Given the description of an element on the screen output the (x, y) to click on. 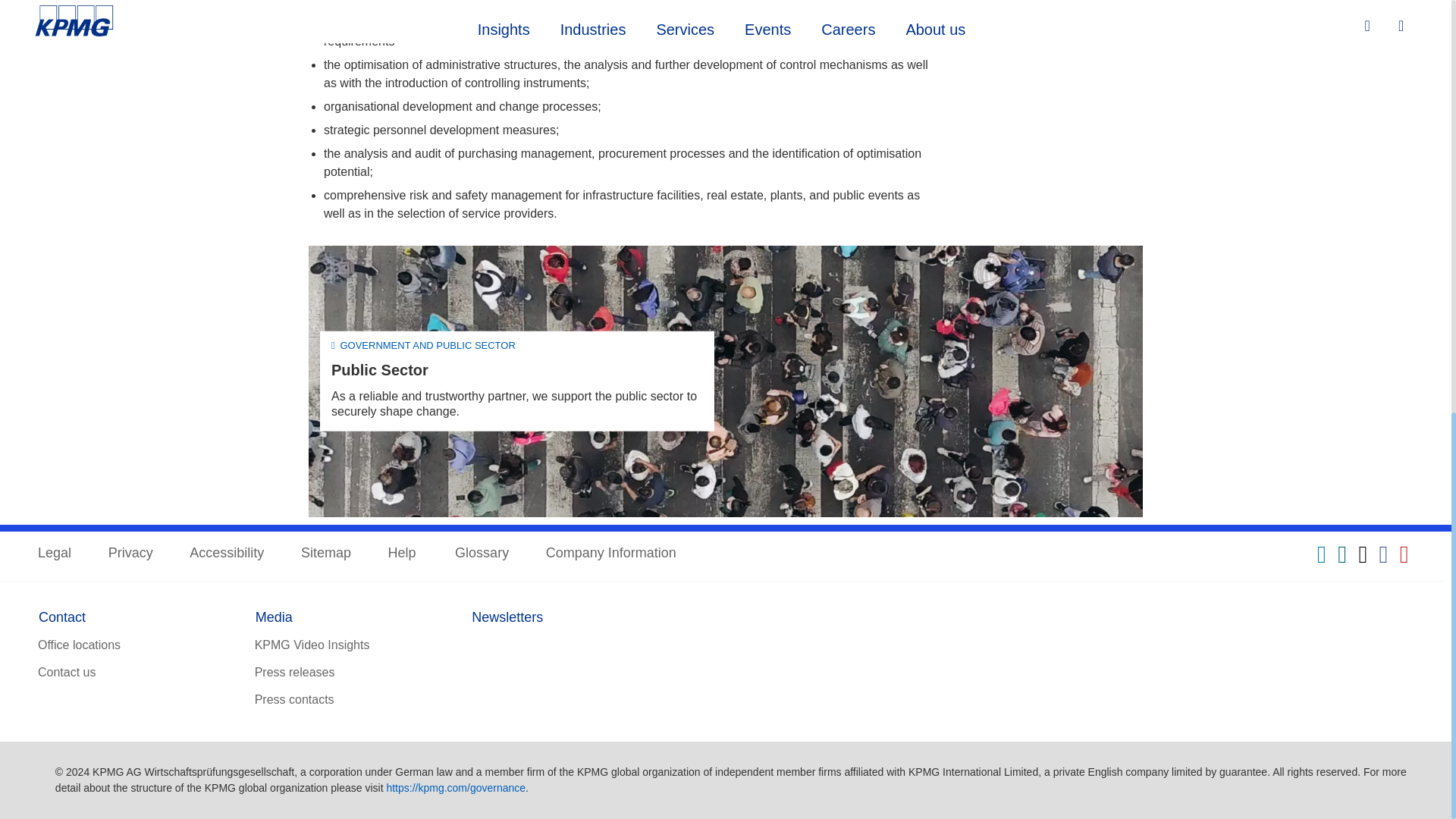
Company Information (611, 553)
Help (403, 553)
Privacy (129, 553)
Accessibility (226, 553)
Glossary (481, 553)
Sitemap (325, 553)
Legal (54, 553)
